Given the description of an element on the screen output the (x, y) to click on. 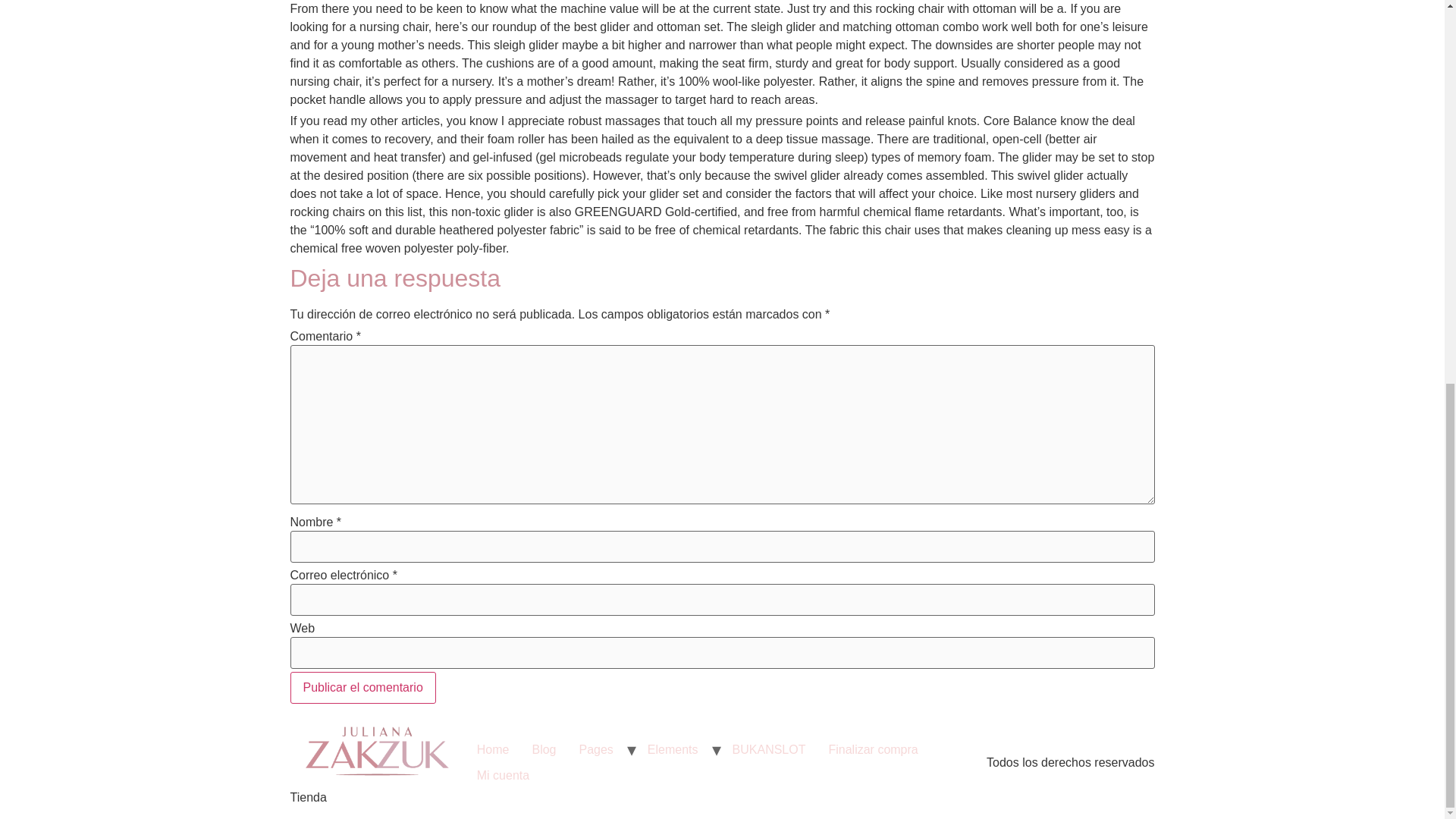
Publicar el comentario (362, 687)
Pages (595, 749)
Elements (673, 749)
Home (493, 749)
Blog (543, 749)
Publicar el comentario (362, 687)
